Given the description of an element on the screen output the (x, y) to click on. 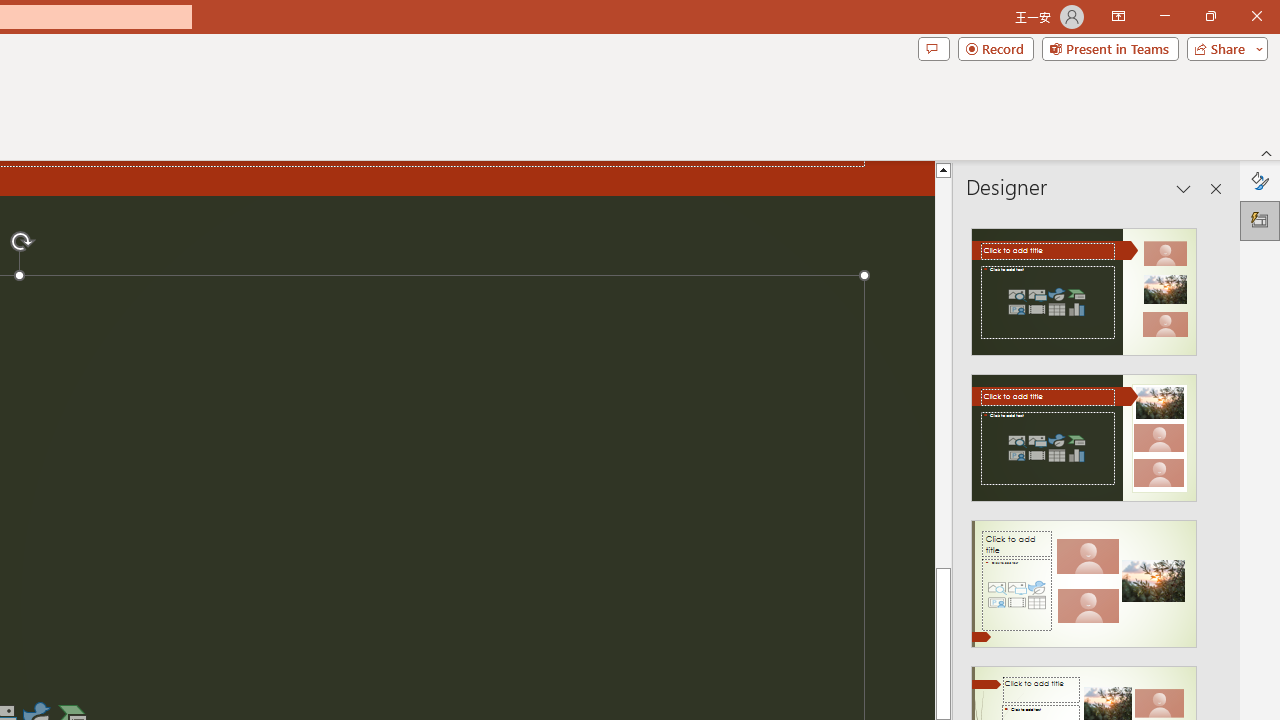
Recommended Design: Design Idea (1083, 286)
Format Background (1260, 180)
